Given the description of an element on the screen output the (x, y) to click on. 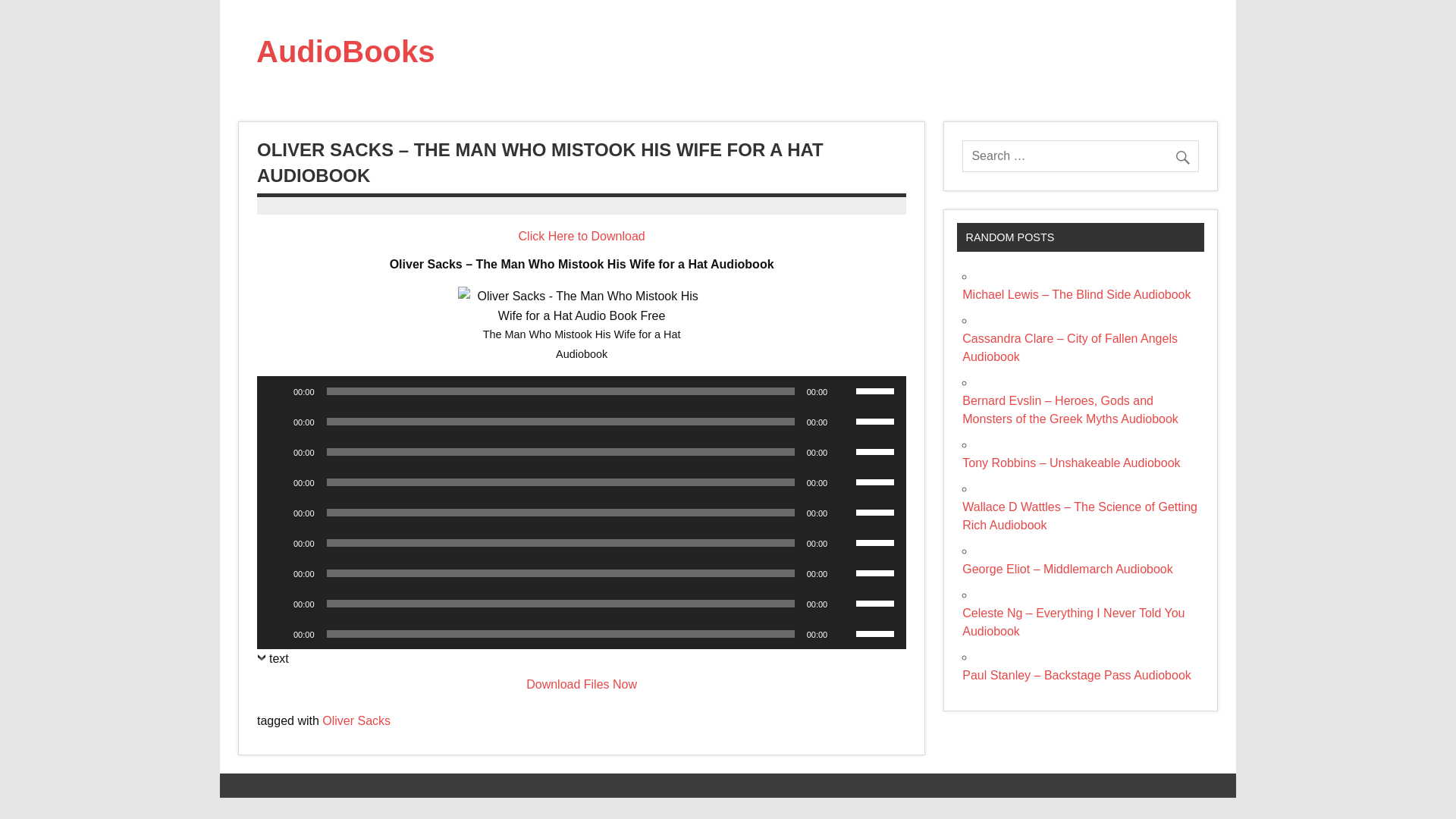
Mute (843, 391)
Play (276, 572)
AudioBooks (345, 51)
Mute (843, 572)
Play (276, 391)
Play (276, 482)
Play (276, 451)
Play (276, 633)
Mute (843, 421)
Play (276, 542)
